Given the description of an element on the screen output the (x, y) to click on. 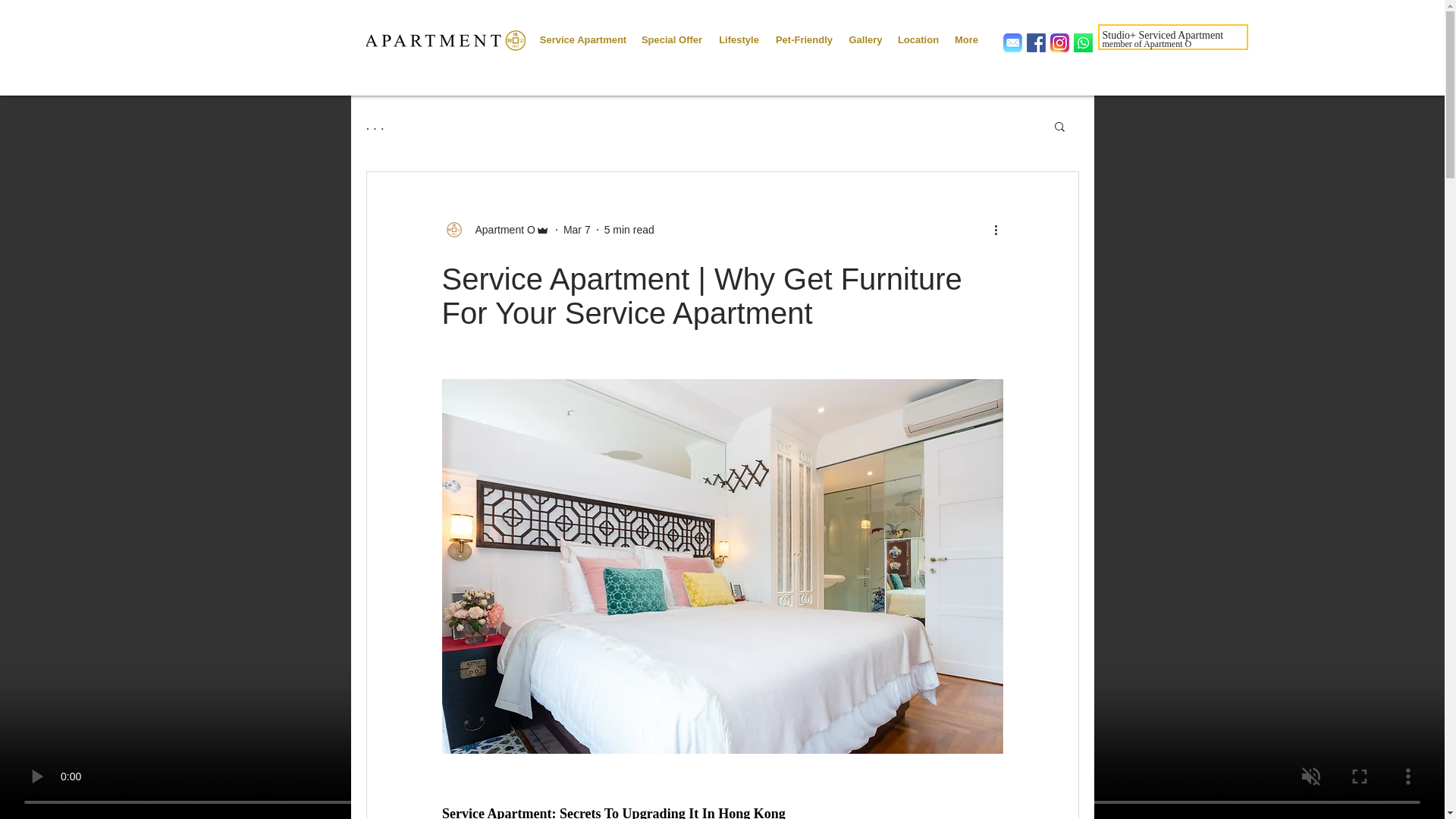
member of Apartment O (1147, 43)
Lifestyle (738, 33)
Apartment O (494, 229)
Pet-Friendly (803, 33)
Special Offer (671, 33)
Gallery (864, 33)
. . . (374, 125)
Mar 7 (577, 228)
Apartment O (499, 229)
Service Apartment (582, 33)
5 min read (628, 228)
Location (916, 33)
